Given the description of an element on the screen output the (x, y) to click on. 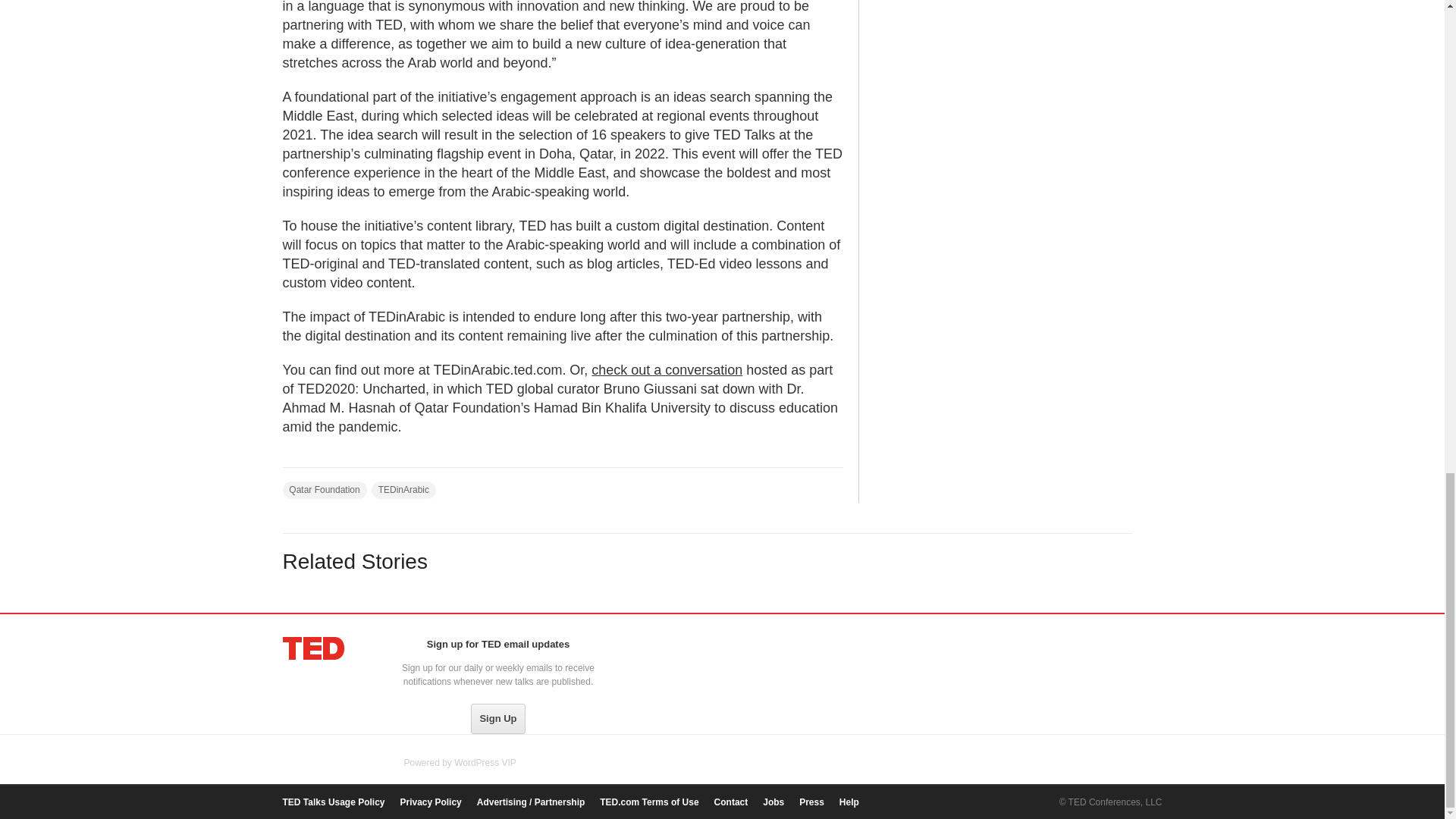
Qatar Foundation (324, 490)
WordPress VIP (485, 762)
TEDinArabic (403, 490)
Sign Up (497, 718)
TED.com (313, 648)
check out a conversation (666, 369)
Sign Up (497, 718)
TED (313, 648)
